Given the description of an element on the screen output the (x, y) to click on. 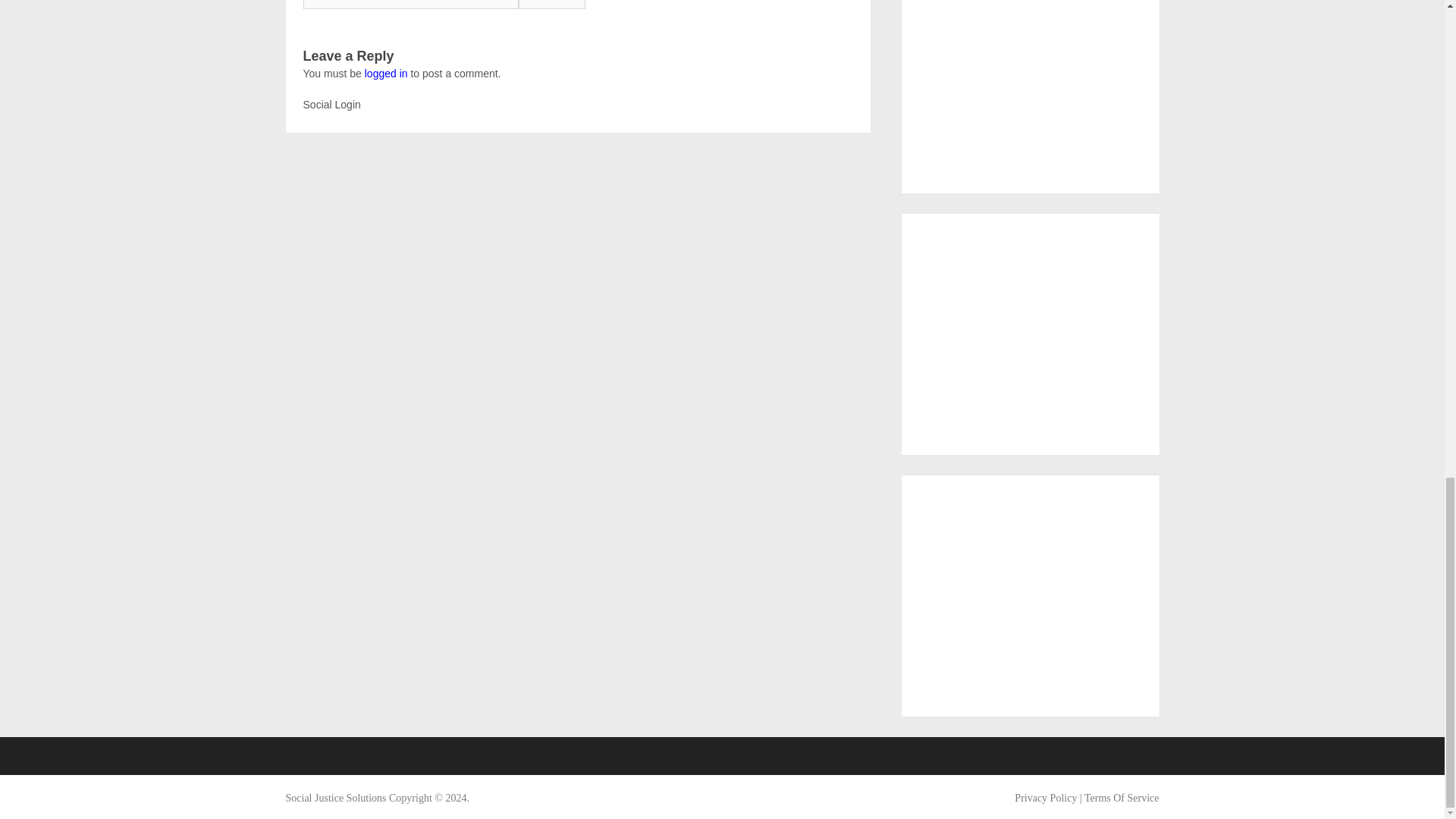
logged in (386, 73)
Subscribe (551, 4)
Subscribe (551, 4)
